Given the description of an element on the screen output the (x, y) to click on. 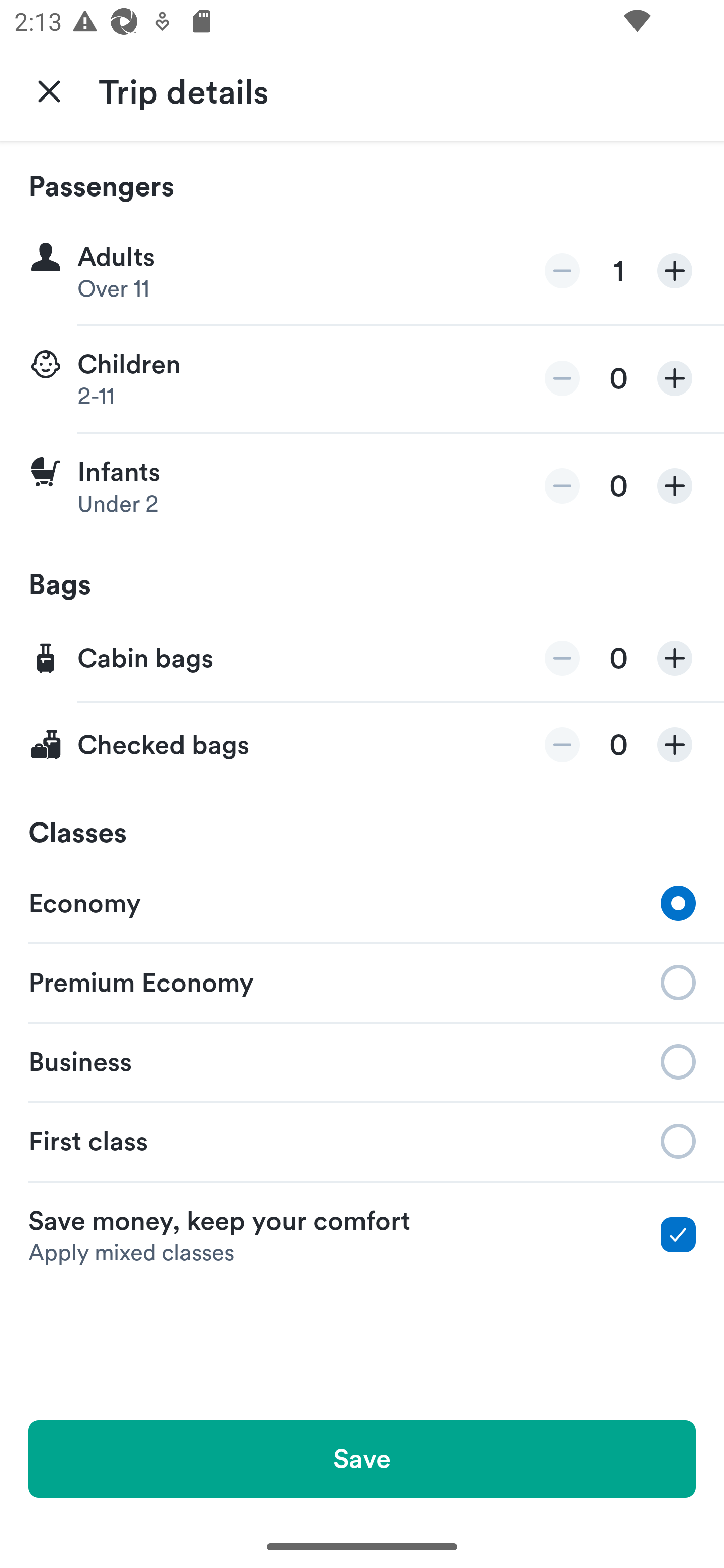
Navigate up (49, 90)
Remove 1 Add Adults Over 11 (362, 271)
Remove (561, 270)
Add (674, 270)
Remove 0 Add Children 2-11 (362, 379)
Remove (561, 377)
Add (674, 377)
Remove 0 Add Infants Under 2 (362, 485)
Remove (561, 485)
Add (674, 485)
Remove 0 Add Cabin bags (362, 659)
Remove (561, 658)
Add (674, 658)
Remove 0 Add Checked bags (362, 744)
Remove (561, 744)
Add (674, 744)
Premium Economy (362, 980)
Business (362, 1060)
First class (362, 1141)
Save (361, 1458)
